Given the description of an element on the screen output the (x, y) to click on. 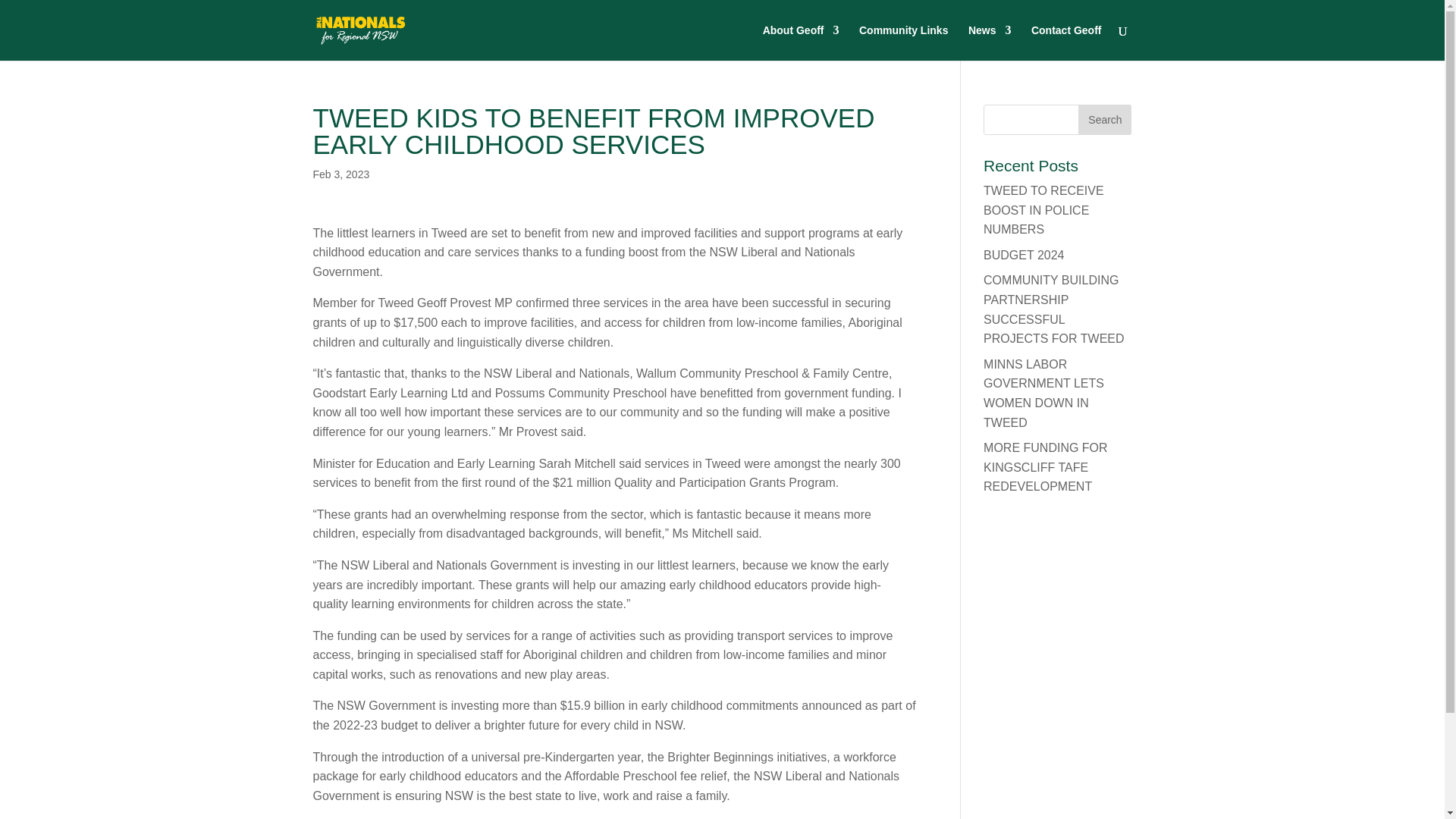
Contact Geoff (1066, 42)
About Geoff (801, 42)
Search (1104, 119)
Community Links (903, 42)
TWEED TO RECEIVE BOOST IN POLICE NUMBERS (1043, 209)
MORE FUNDING FOR KINGSCLIFF TAFE REDEVELOPMENT (1046, 467)
COMMUNITY BUILDING PARTNERSHIP SUCCESSFUL PROJECTS FOR TWEED (1054, 308)
MINNS LABOR GOVERNMENT LETS WOMEN DOWN IN TWEED (1043, 393)
Search (1104, 119)
News (989, 42)
